Given the description of an element on the screen output the (x, y) to click on. 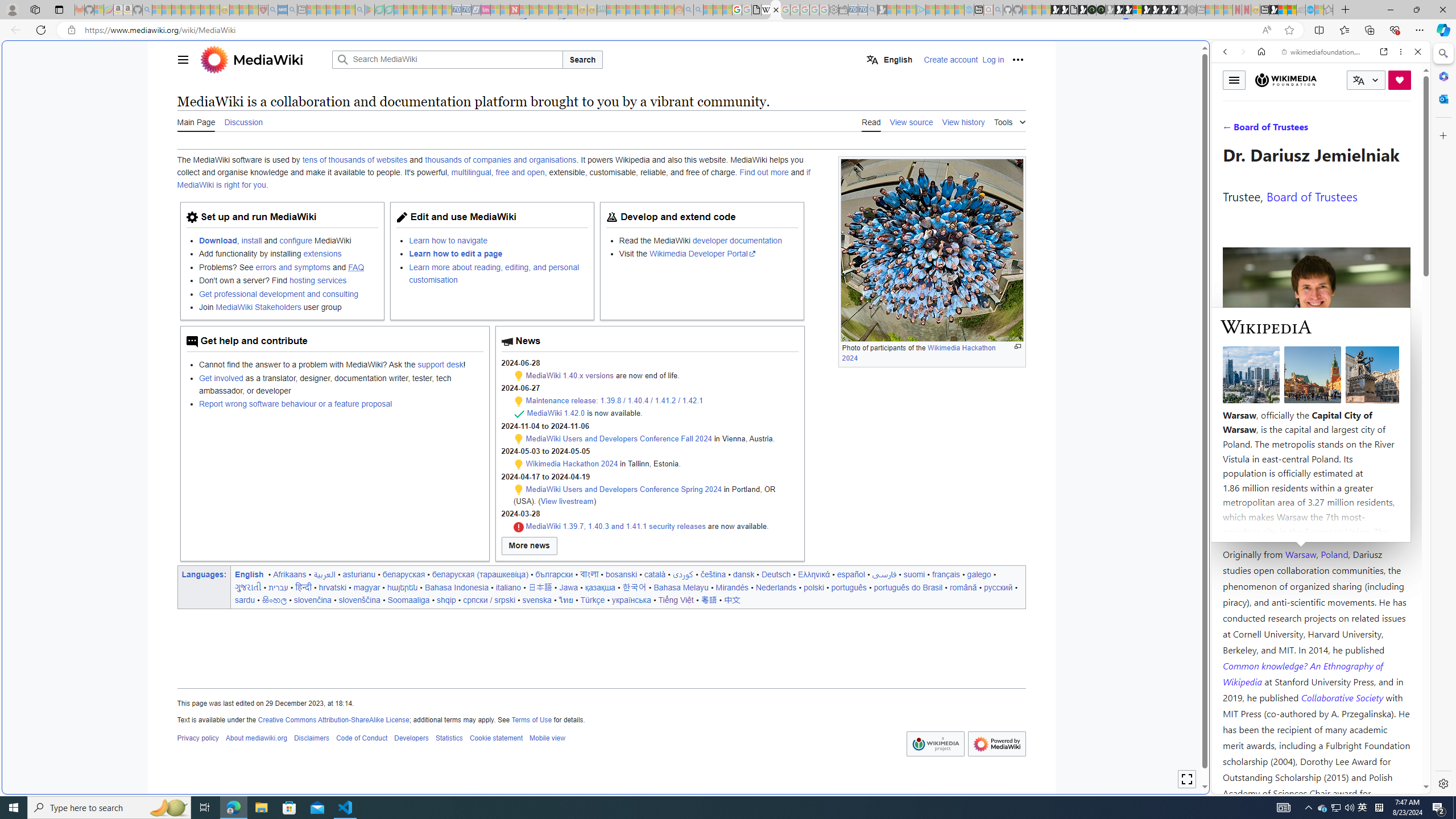
CURRENT LANGUAGE: (1366, 80)
Collaborative Society  (1343, 697)
Deutsch (775, 574)
Log in (993, 58)
Poland (1334, 554)
Log in (993, 58)
